Given the description of an element on the screen output the (x, y) to click on. 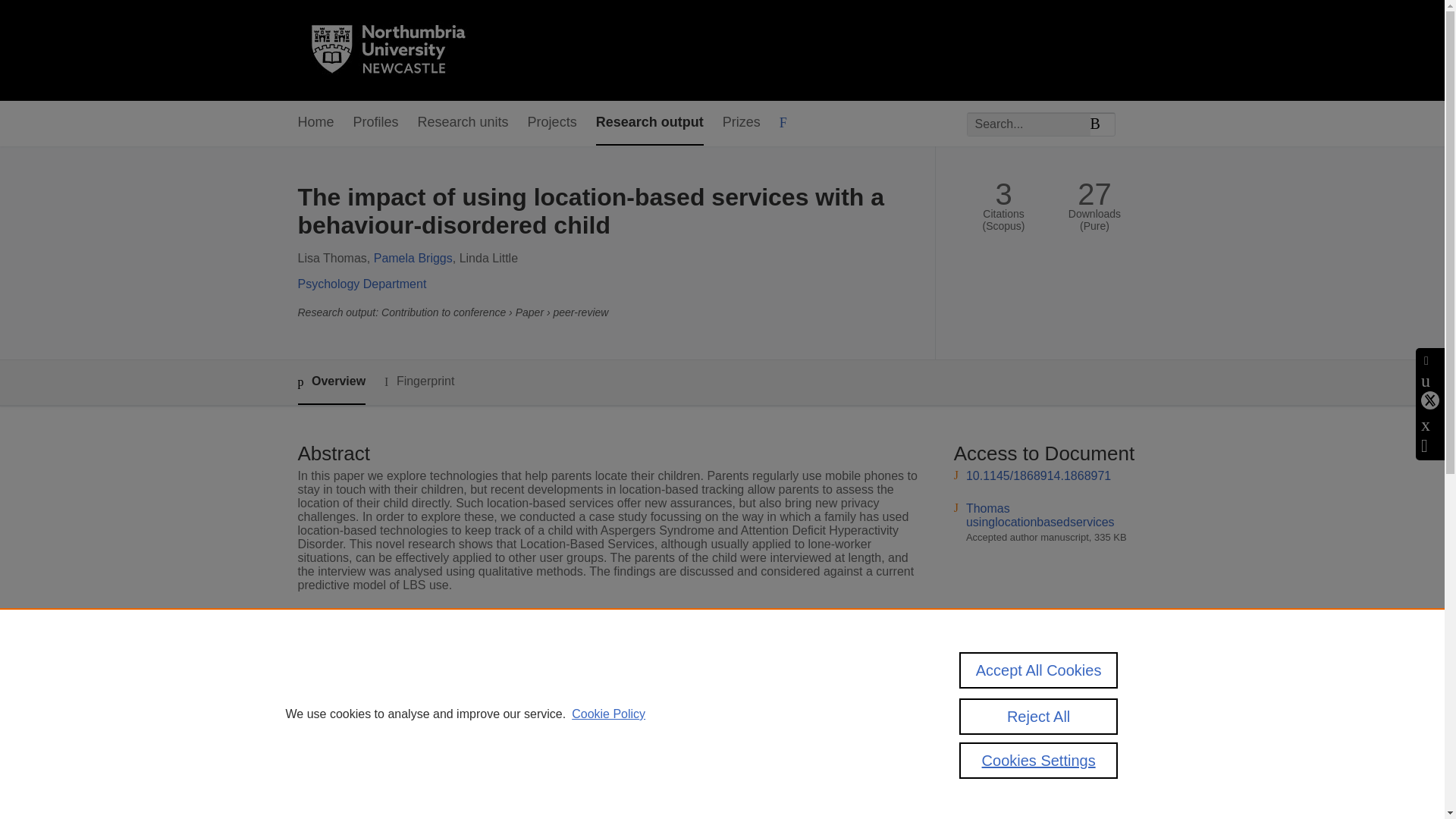
Profiles (375, 122)
Northumbria University Research Portal Home (398, 50)
Thomas usinglocationbasedservices (1040, 515)
Overview (331, 382)
Research output (649, 122)
Fingerprint (419, 381)
The 6th Nordic Conference on Human-Computer Interaction (664, 658)
Projects (551, 122)
Pamela Briggs (413, 257)
Research units (462, 122)
